Given the description of an element on the screen output the (x, y) to click on. 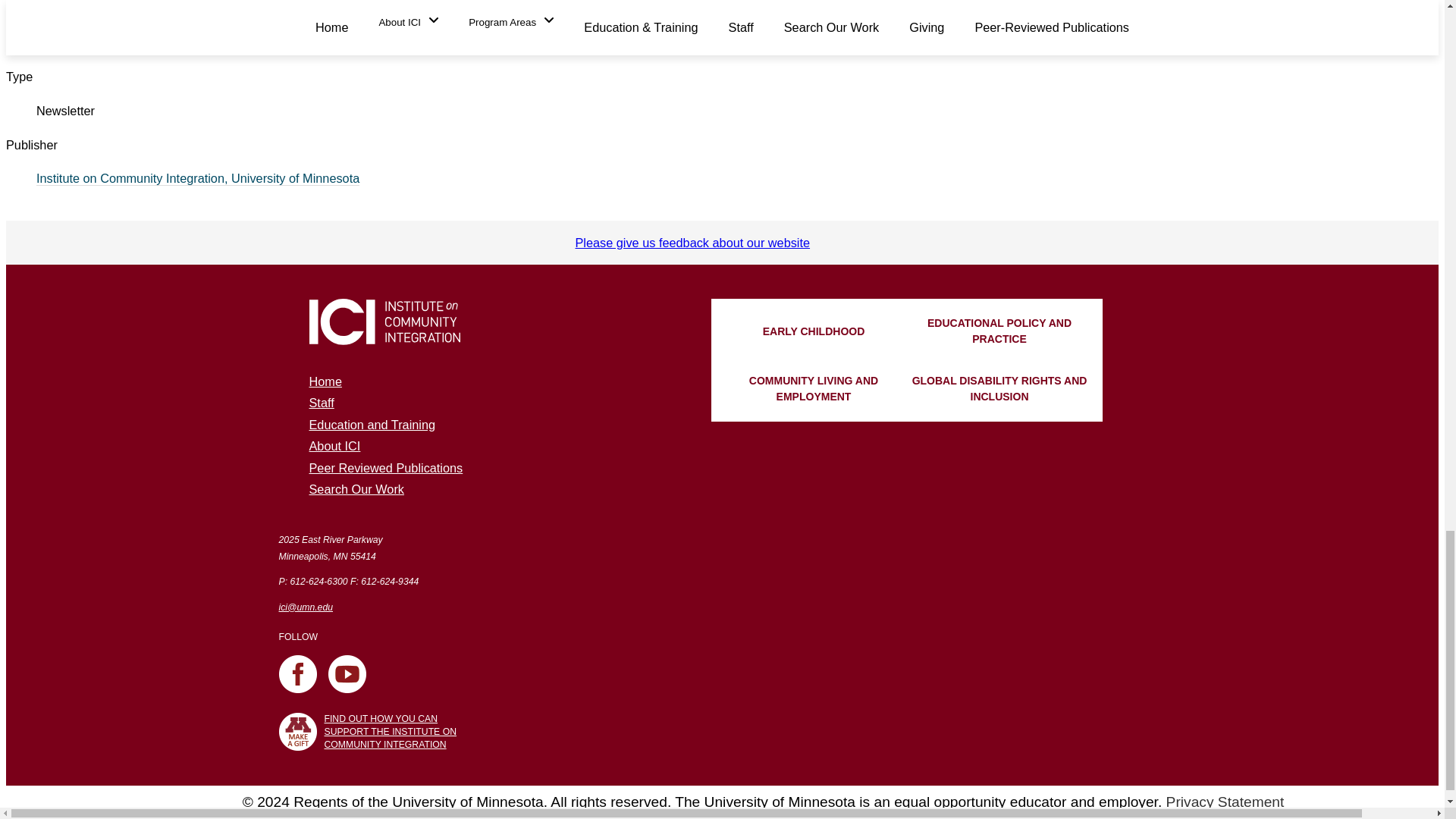
Staff (321, 402)
Institute on Community Integration (384, 321)
COMMUNITY LIVING AND EMPLOYMENT (814, 388)
Peer Reviewed Publications (385, 468)
About ICI (334, 445)
Education and Training (371, 424)
Please give us feedback about our website (692, 242)
Home (325, 381)
Institute on Community Integration (384, 337)
Search Our Work (356, 489)
Institute on Community Integration, University of Minnesota (197, 178)
GLOBAL DISABILITY RIGHTS AND INCLUSION (999, 388)
EDUCATIONAL POLICY AND PRACTICE (999, 330)
EARLY CHILDHOOD (814, 330)
